Given the description of an element on the screen output the (x, y) to click on. 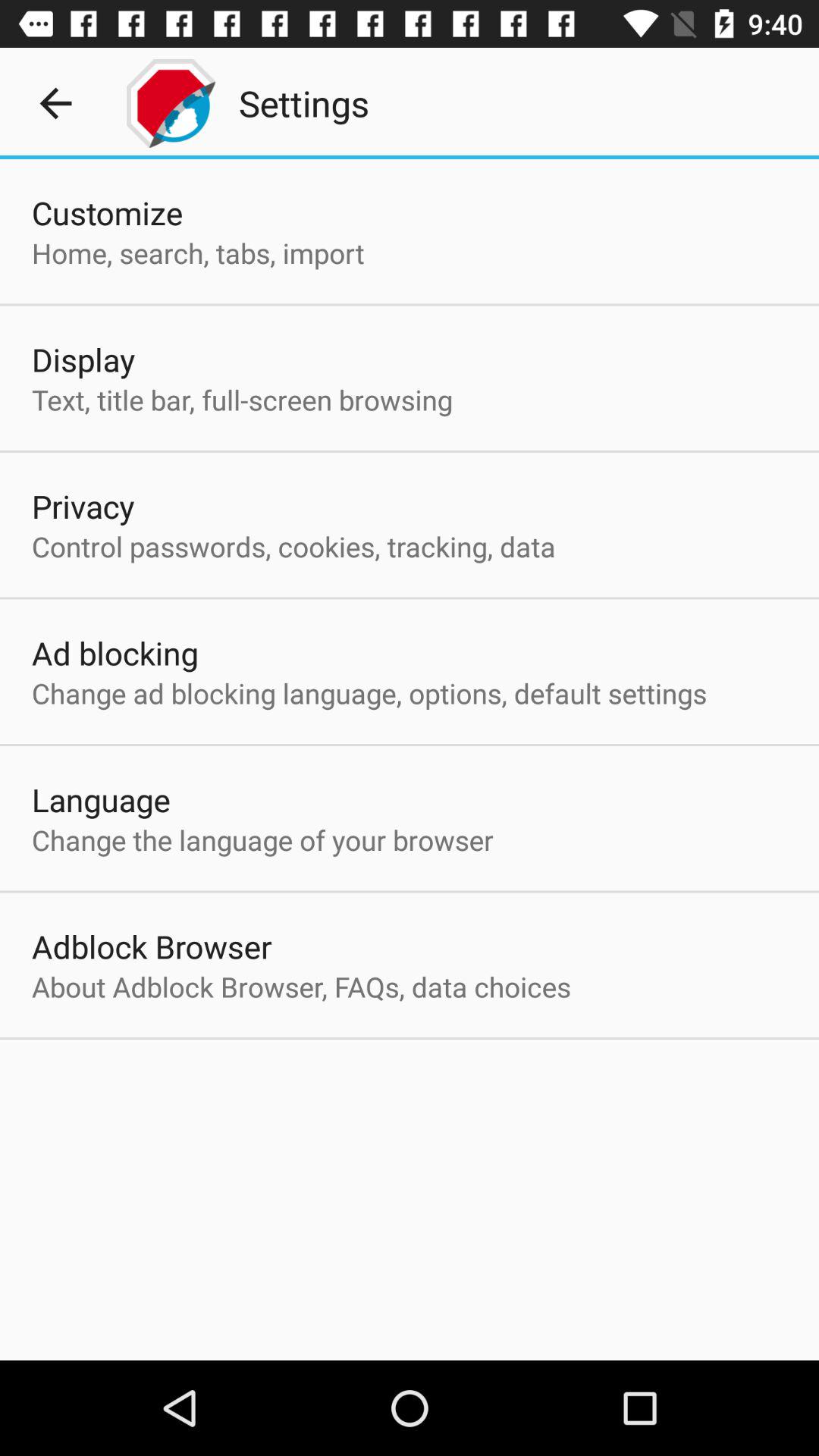
scroll to the home search tabs icon (197, 252)
